Given the description of an element on the screen output the (x, y) to click on. 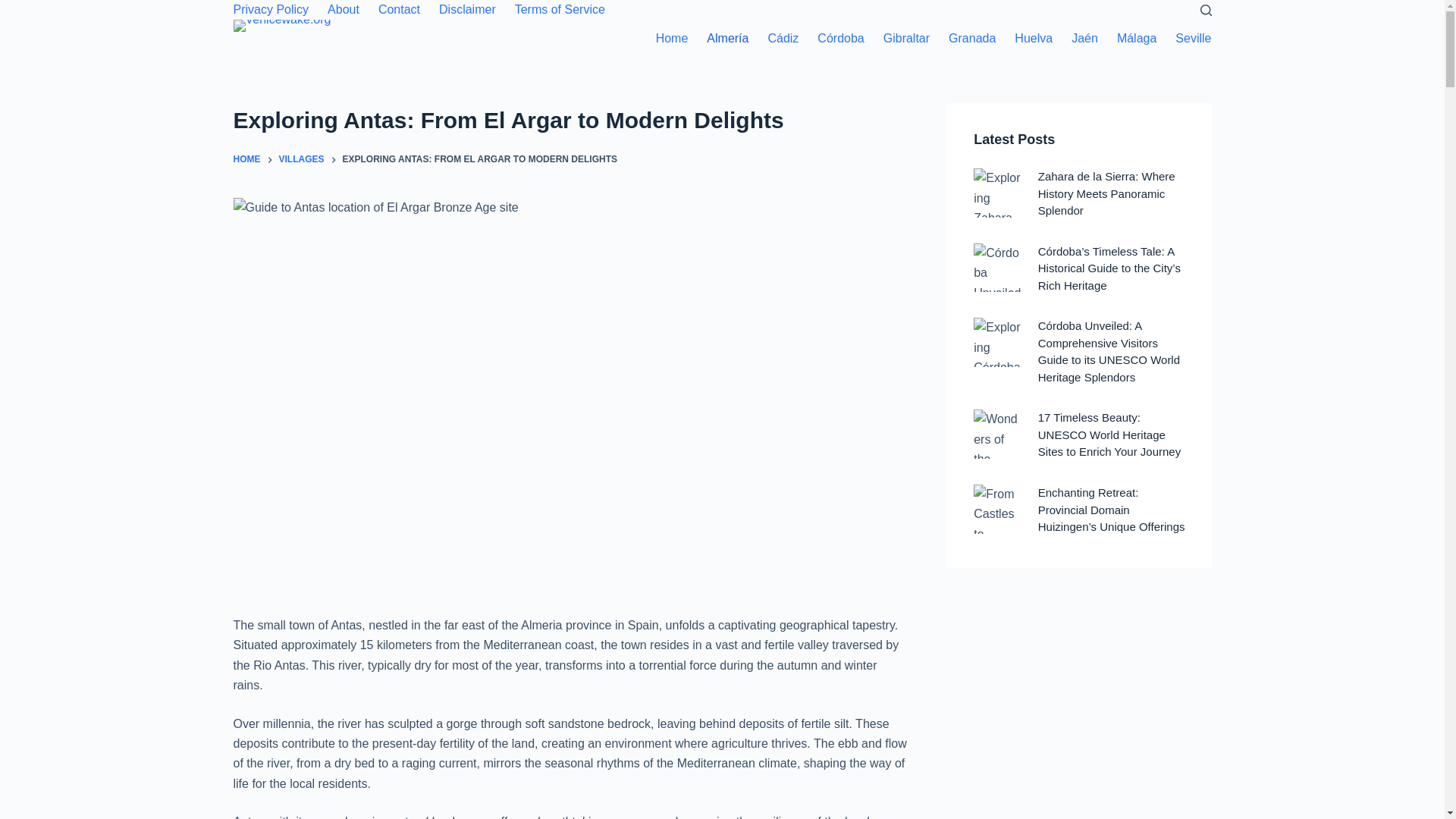
Terms of Service (559, 9)
Disclaimer (467, 9)
Granada (972, 38)
Seville (1188, 38)
Skip to content (15, 7)
Home (671, 38)
Huelva (1034, 38)
Gibraltar (906, 38)
About (343, 9)
Privacy Policy (275, 9)
